Given the description of an element on the screen output the (x, y) to click on. 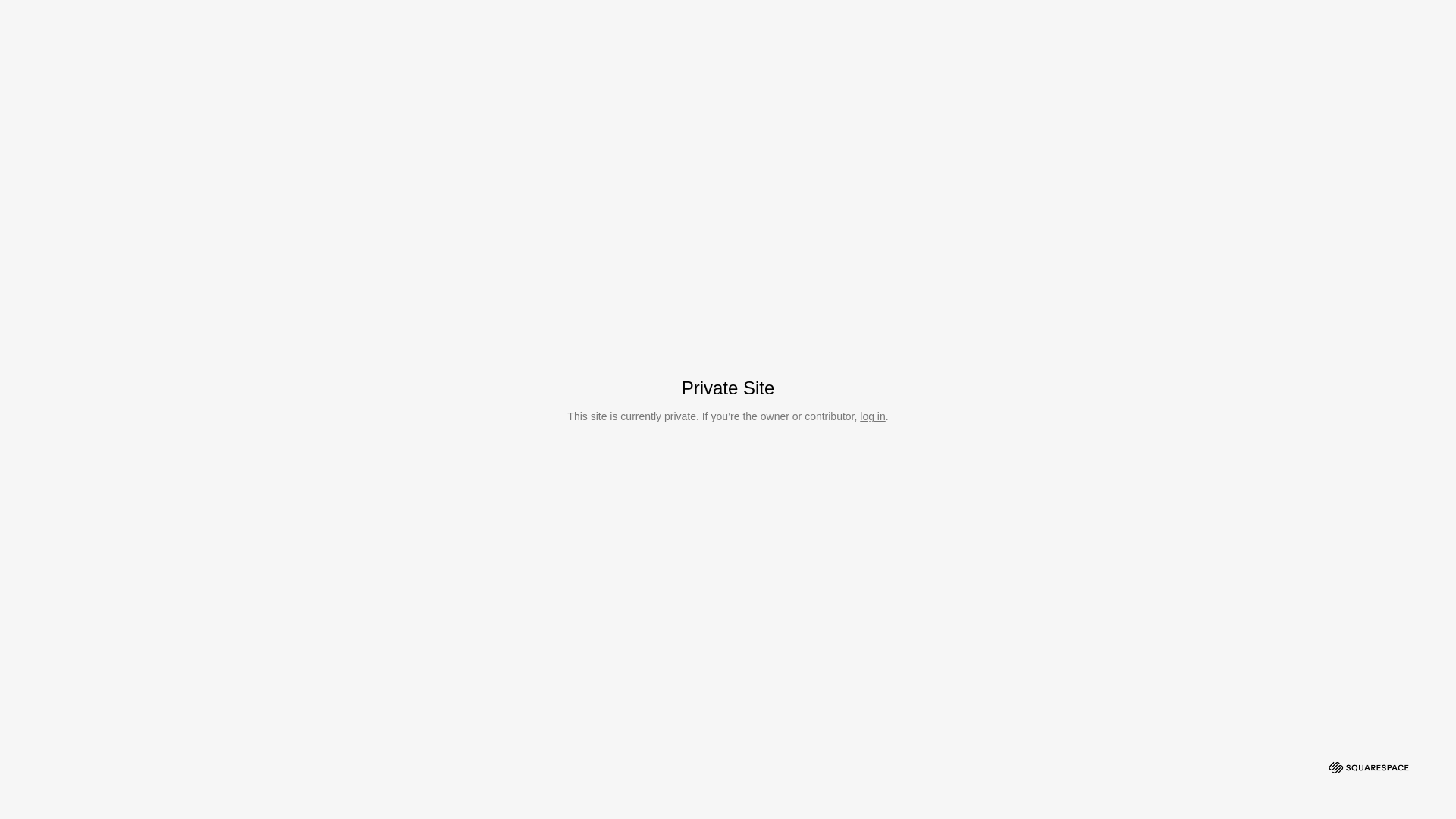
log in Element type: text (871, 416)
